Given the description of an element on the screen output the (x, y) to click on. 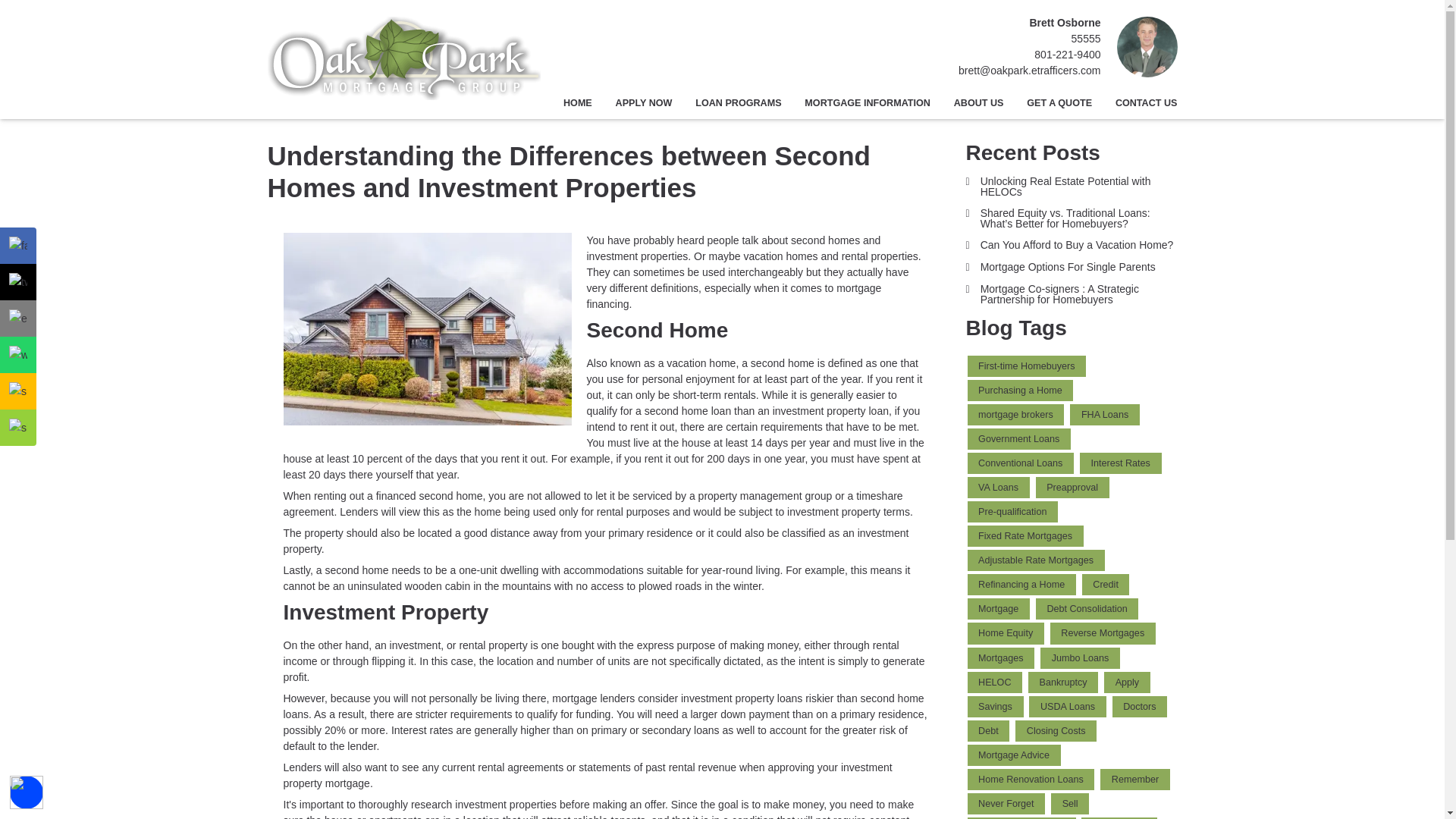
LOAN PROGRAMS (738, 102)
Mortgage Options For Single Parents (1071, 266)
ABOUT US (978, 102)
Mortgage Co-signers : A Strategic Partnership for Homebuyers (1071, 293)
Can You Afford to Buy a Vacation Home? (1071, 244)
APPLY NOW (644, 102)
Accessibility Menu (26, 792)
Unlocking Real Estate Potential with HELOCs (1071, 186)
MORTGAGE INFORMATION (867, 102)
CONTACT US (1139, 102)
HOME (577, 102)
GET A QUOTE (1058, 102)
